Given the description of an element on the screen output the (x, y) to click on. 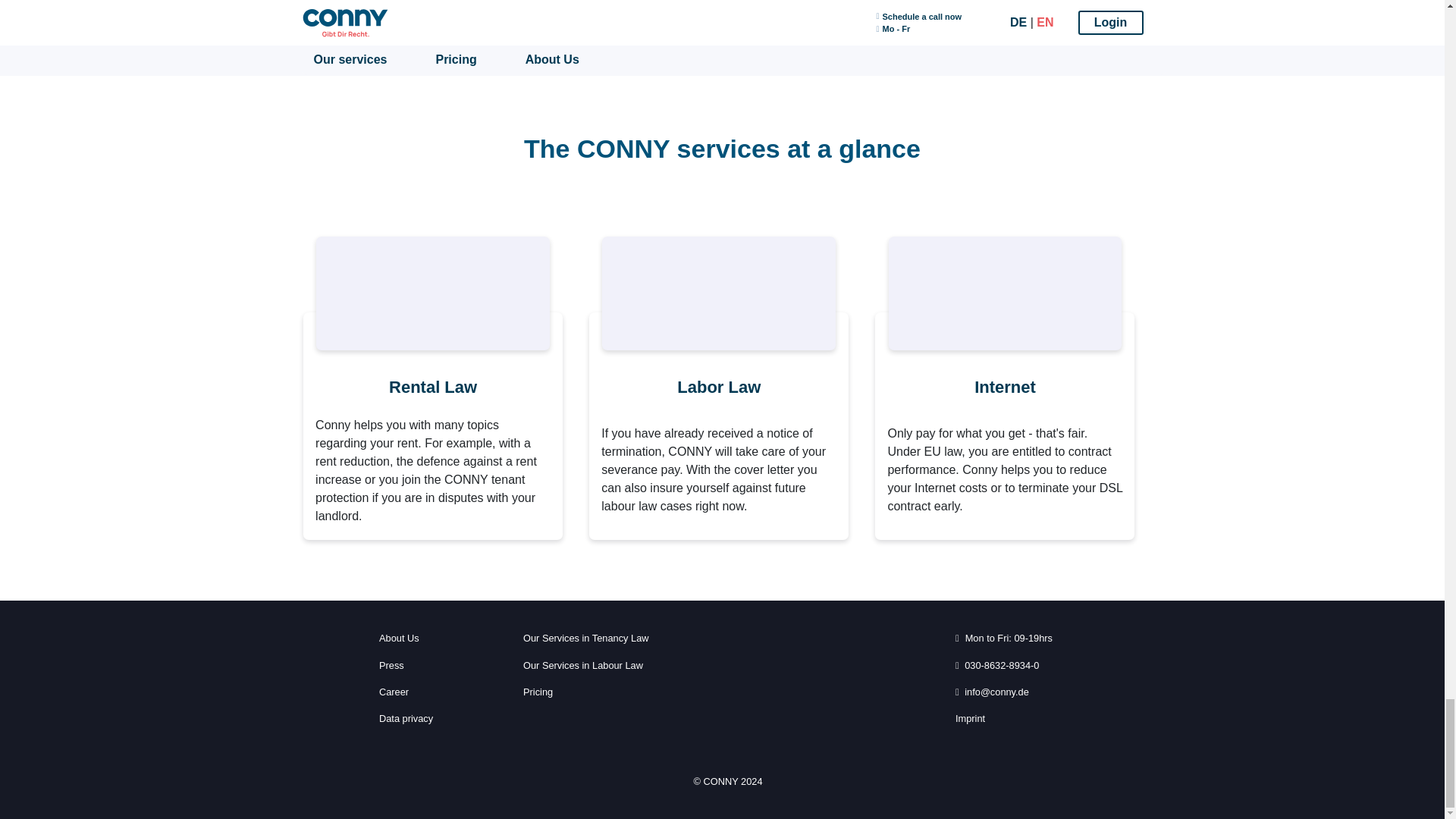
Press (391, 665)
Career (393, 691)
Data privacy (405, 718)
About Us (398, 637)
